Given the description of an element on the screen output the (x, y) to click on. 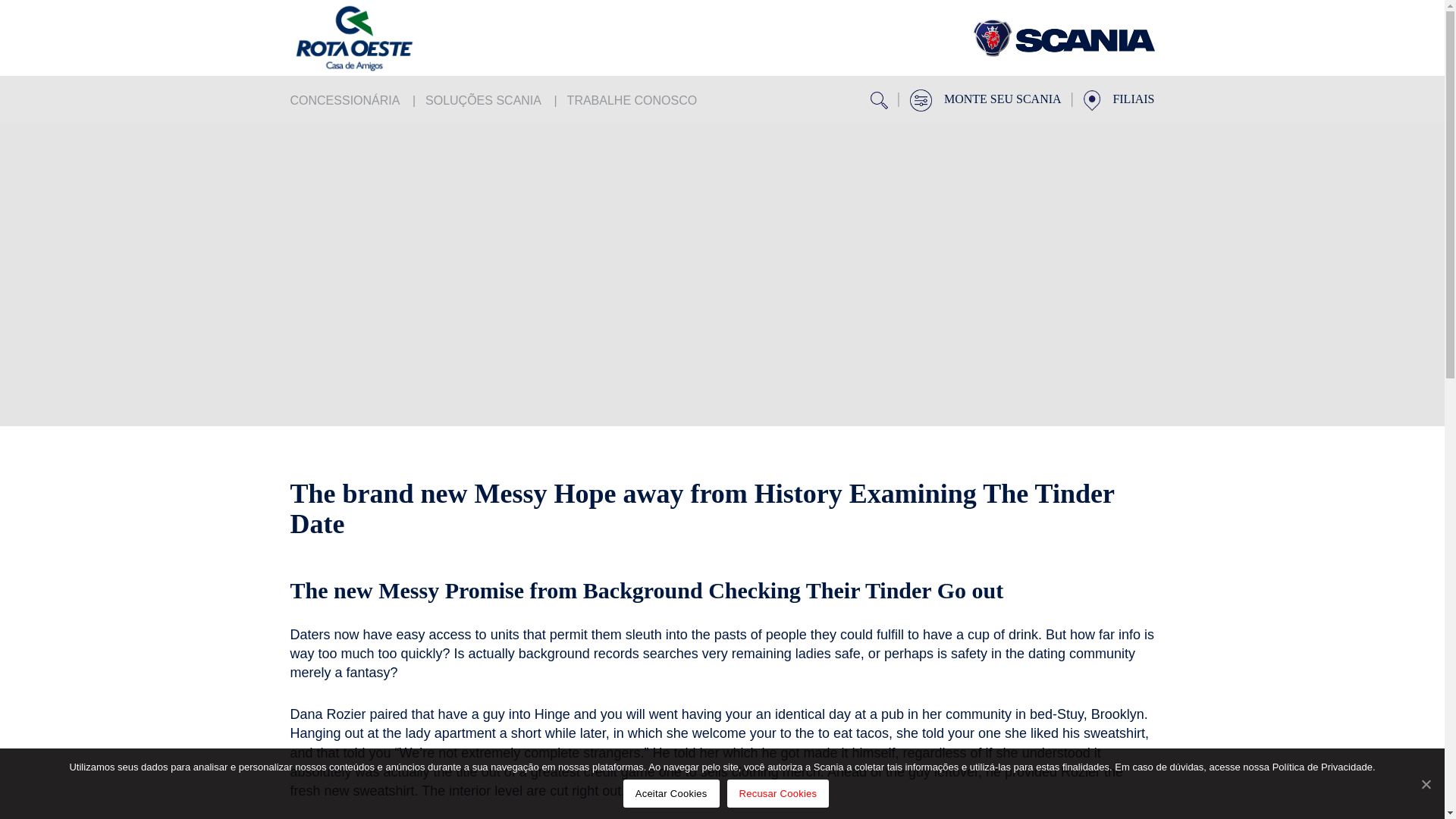
Rota Oeste (1063, 38)
Rota Oeste (380, 38)
